Given the description of an element on the screen output the (x, y) to click on. 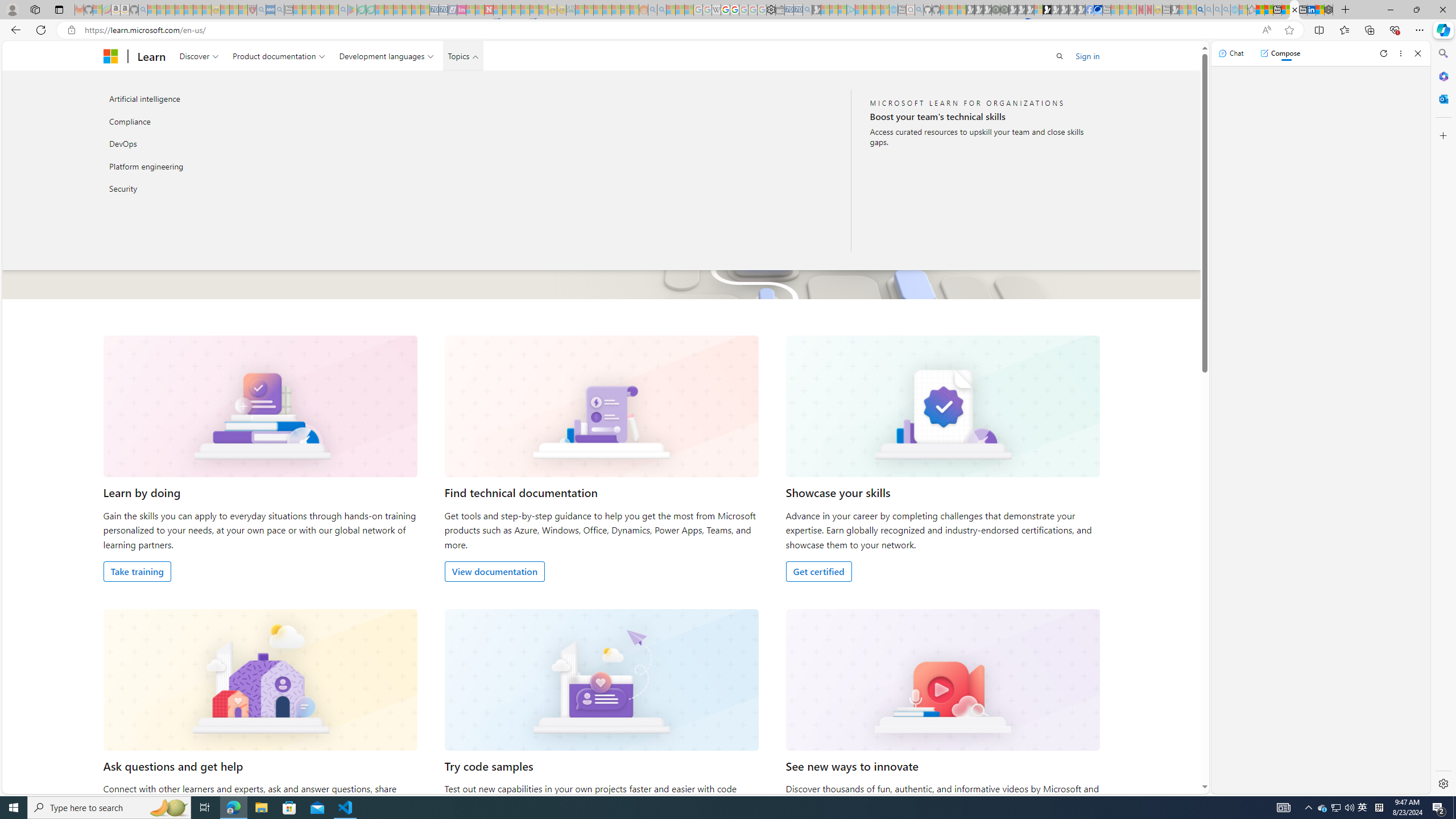
Compliance (224, 121)
AQI & Health | AirNow.gov (1098, 9)
Boost your team's technical skills (979, 116)
